Given the description of an element on the screen output the (x, y) to click on. 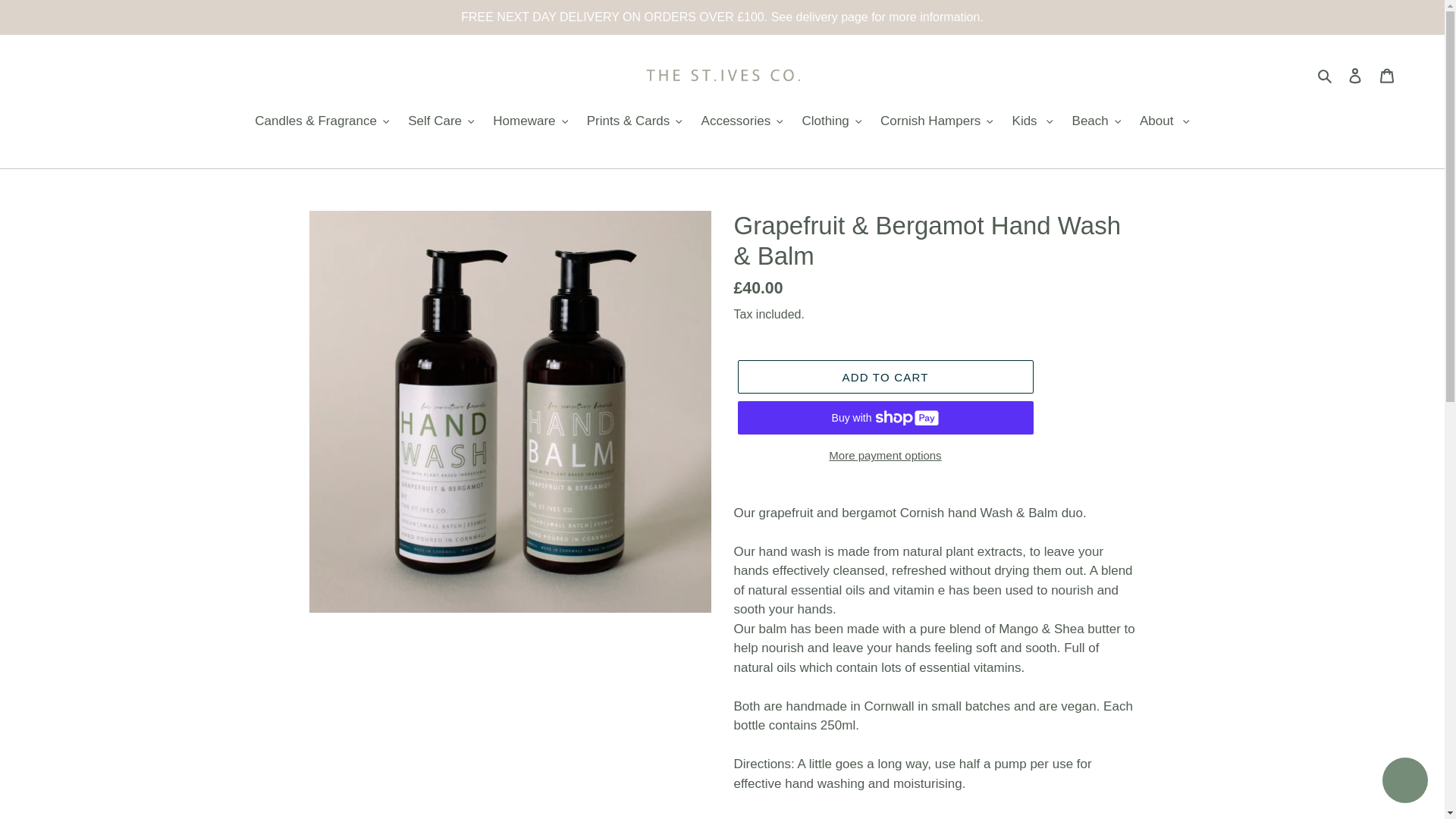
Log in (1355, 74)
Cart (1387, 74)
Shopify online store chat (1404, 781)
Search (1326, 74)
